Given the description of an element on the screen output the (x, y) to click on. 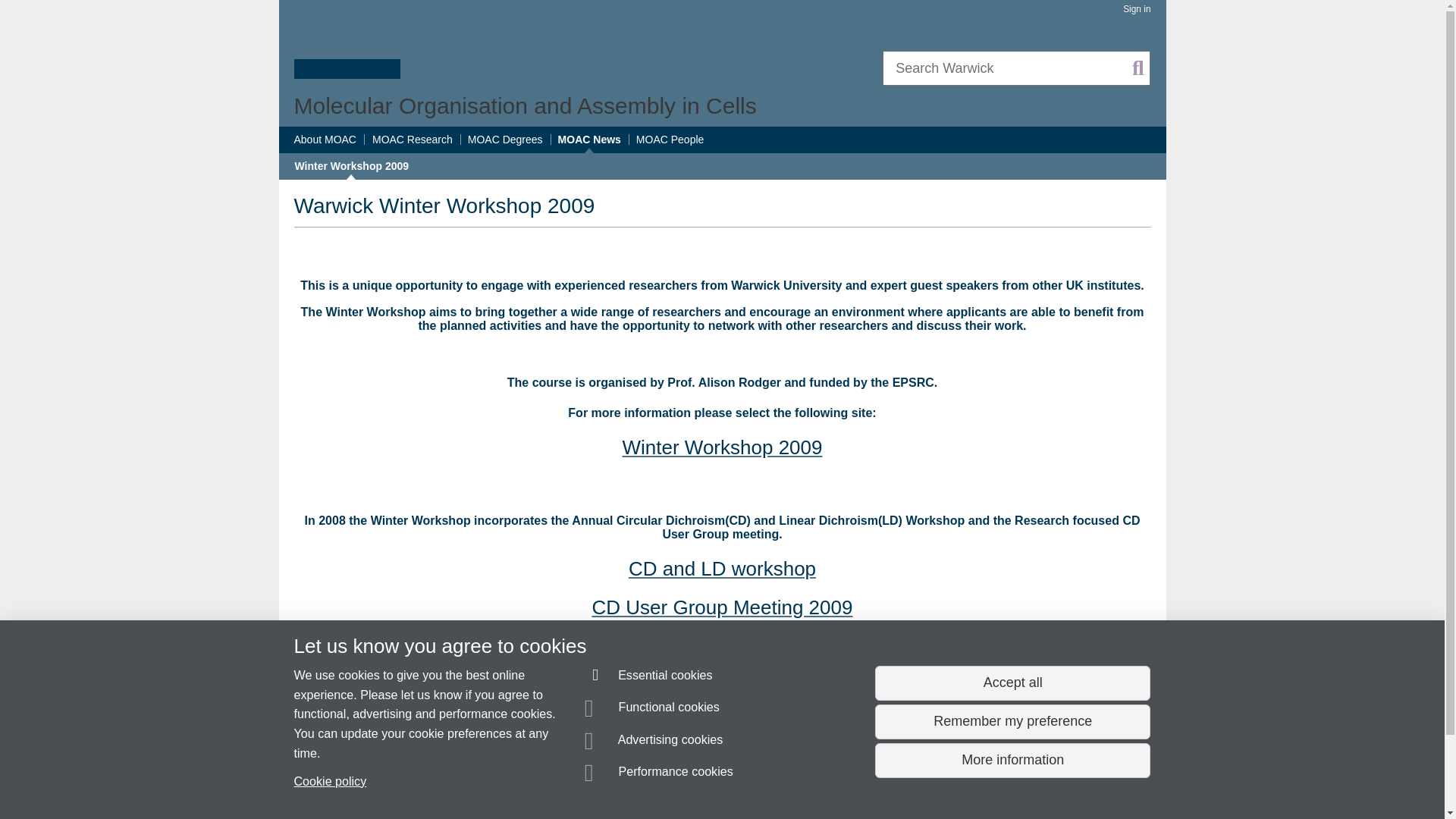
MOAC People (669, 139)
MOAC Degrees (505, 139)
Sign in (1136, 9)
MOAC Research (412, 139)
MOAC News (589, 139)
Molecular Organisation and Assembly in Cells (525, 105)
About MOAC (325, 139)
University of Warwick homepage (346, 48)
